Given the description of an element on the screen output the (x, y) to click on. 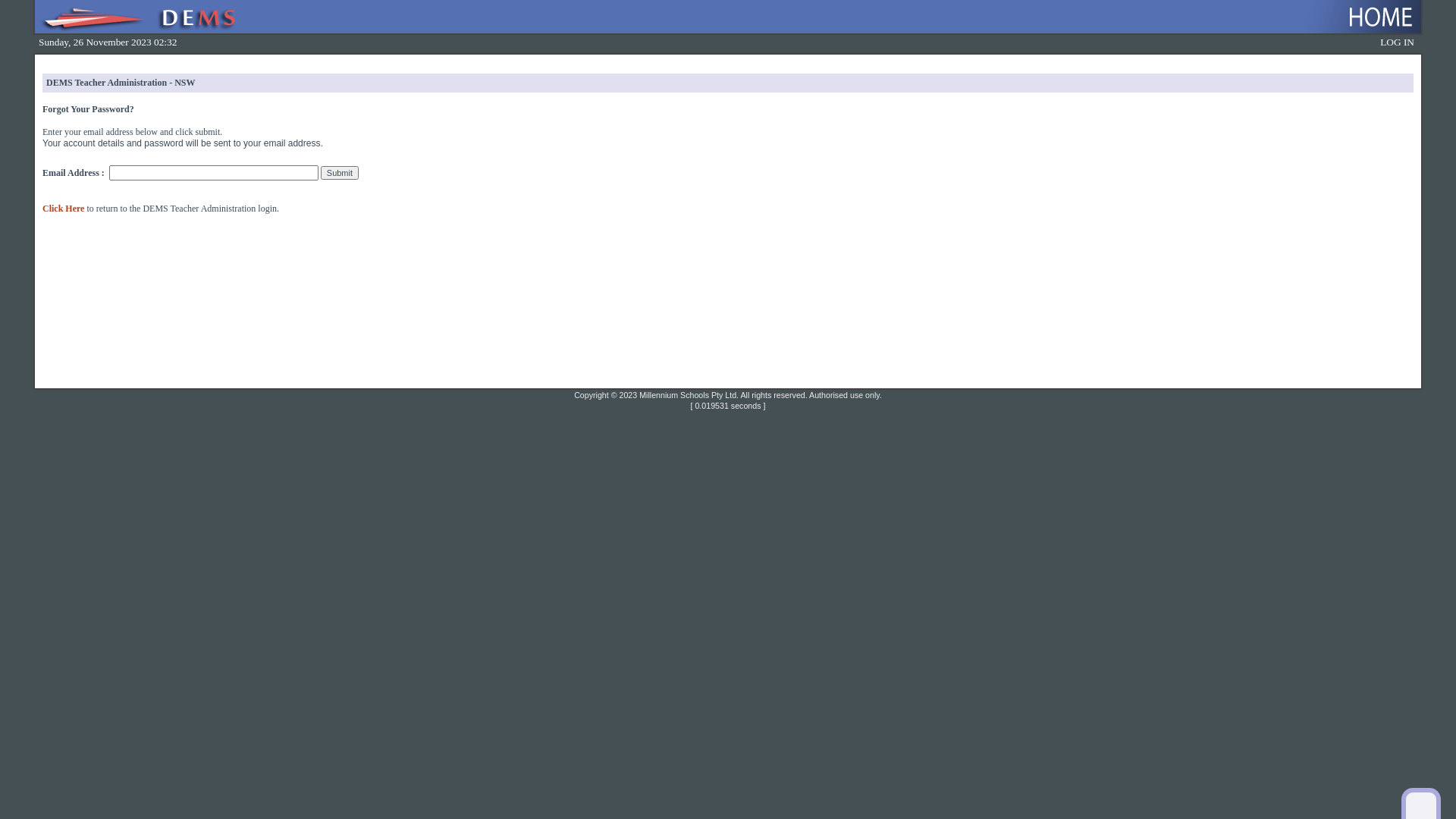
Click Here Element type: text (63, 208)
